Given the description of an element on the screen output the (x, y) to click on. 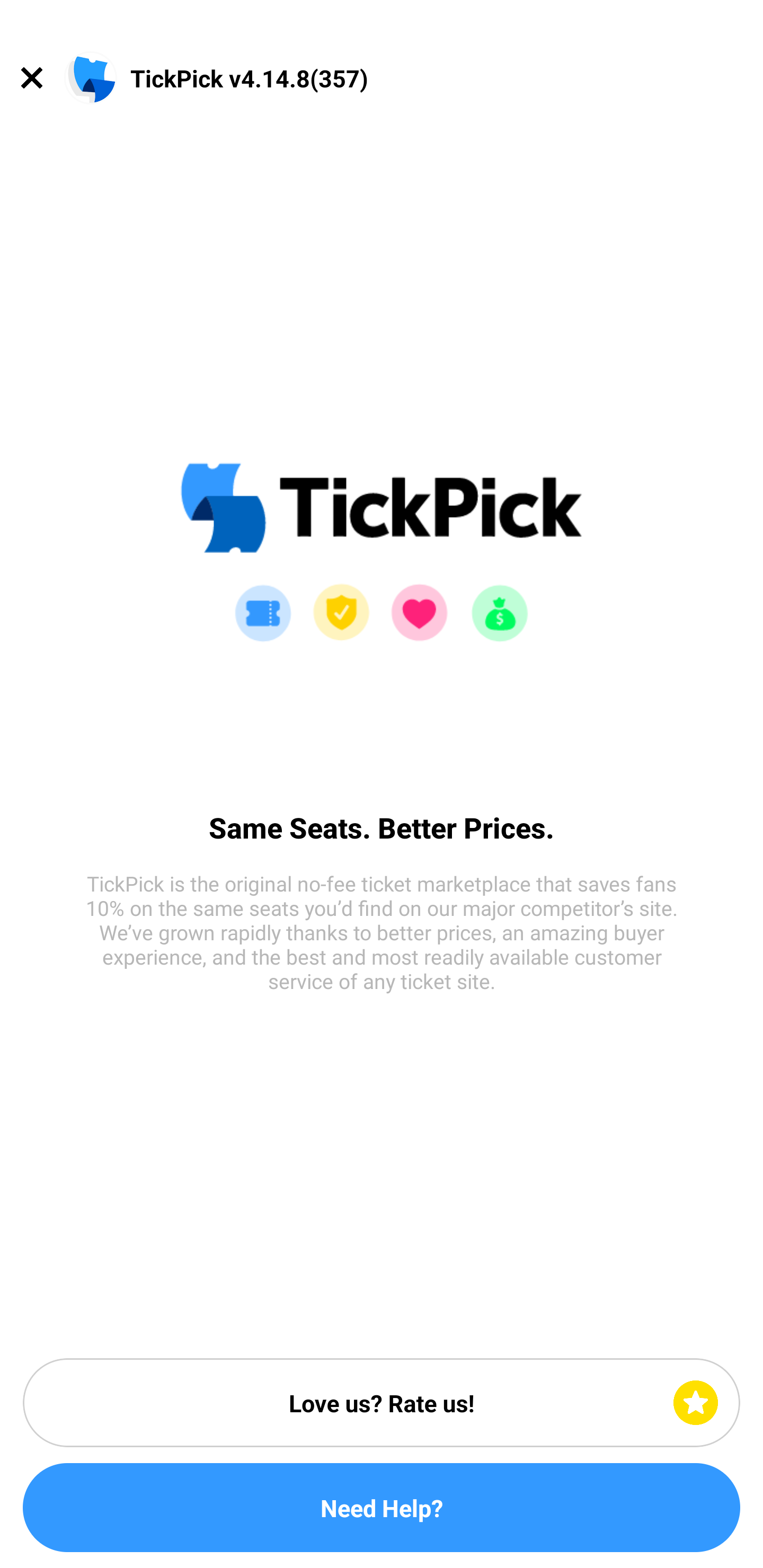
Love us? Rate us! (381, 1402)
Need Help? (381, 1507)
